Given the description of an element on the screen output the (x, y) to click on. 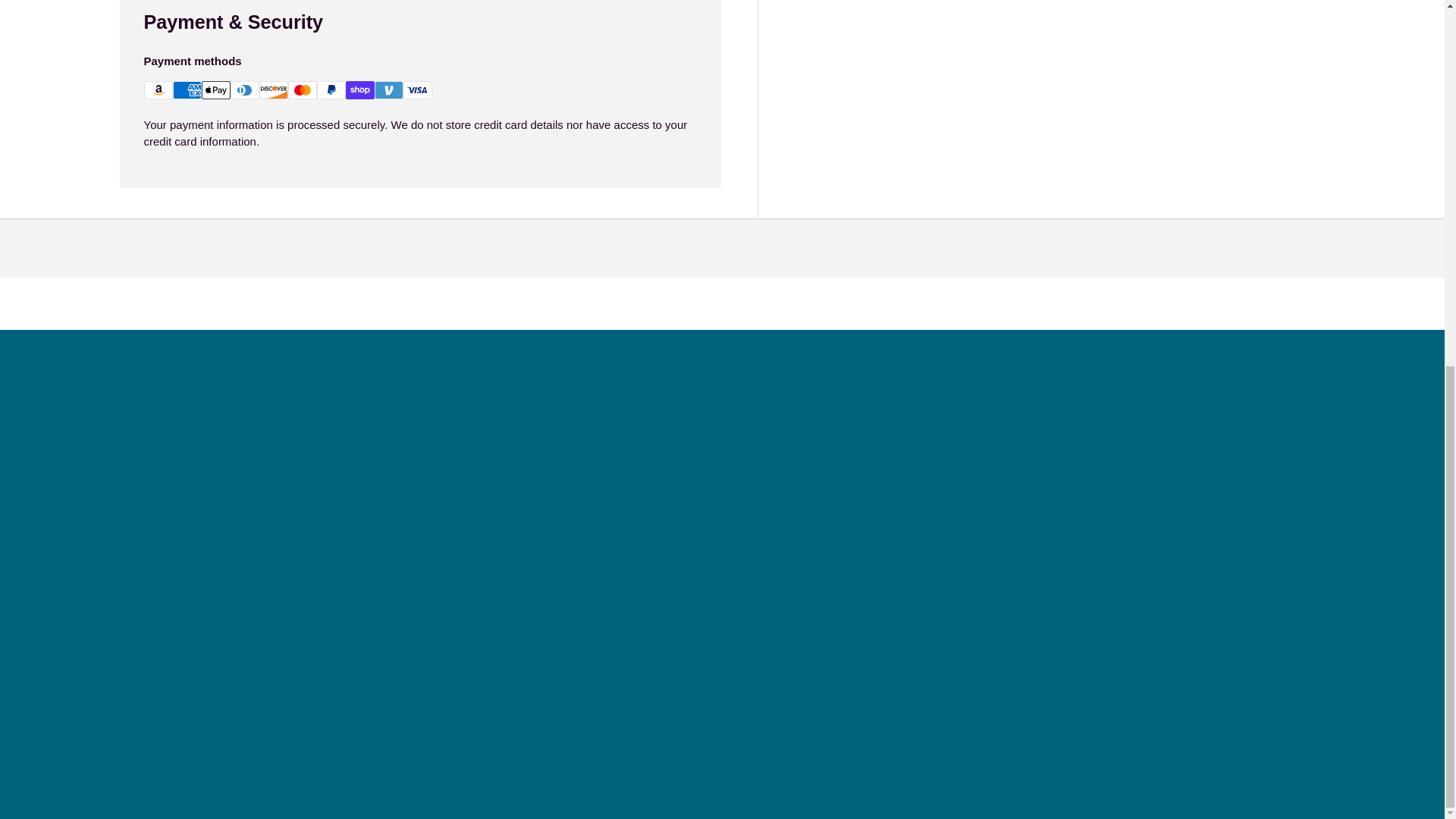
Discover (273, 90)
Diners Club (244, 90)
American Express (187, 90)
Apple Pay (216, 90)
Amazon (158, 90)
